Given the description of an element on the screen output the (x, y) to click on. 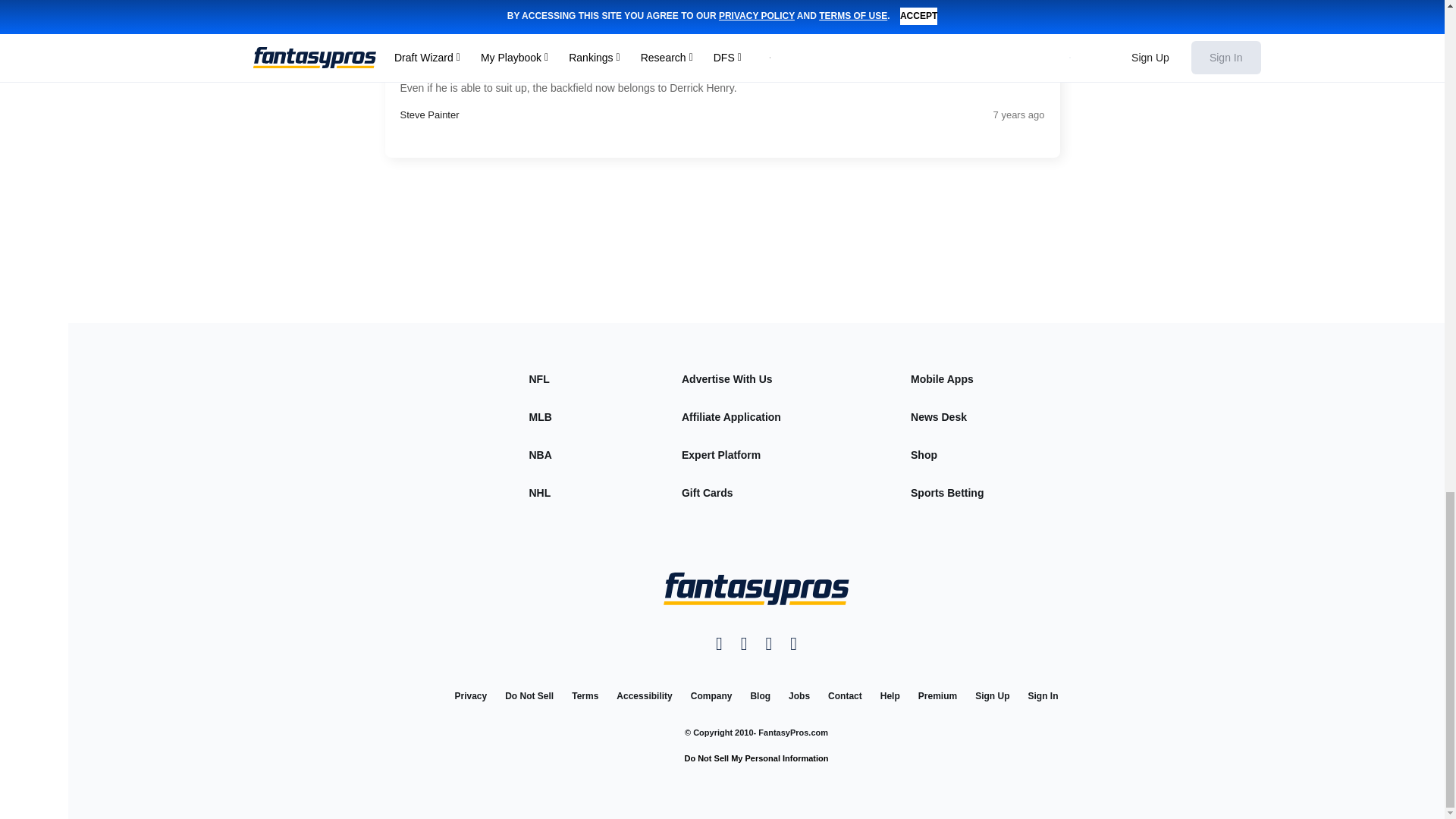
NFL (539, 378)
Apply to be a News Desk correspondent (938, 417)
MLB (540, 417)
NBA (540, 454)
Visit the FantasyPros Shop powered by Shopify.com (925, 454)
